Given the description of an element on the screen output the (x, y) to click on. 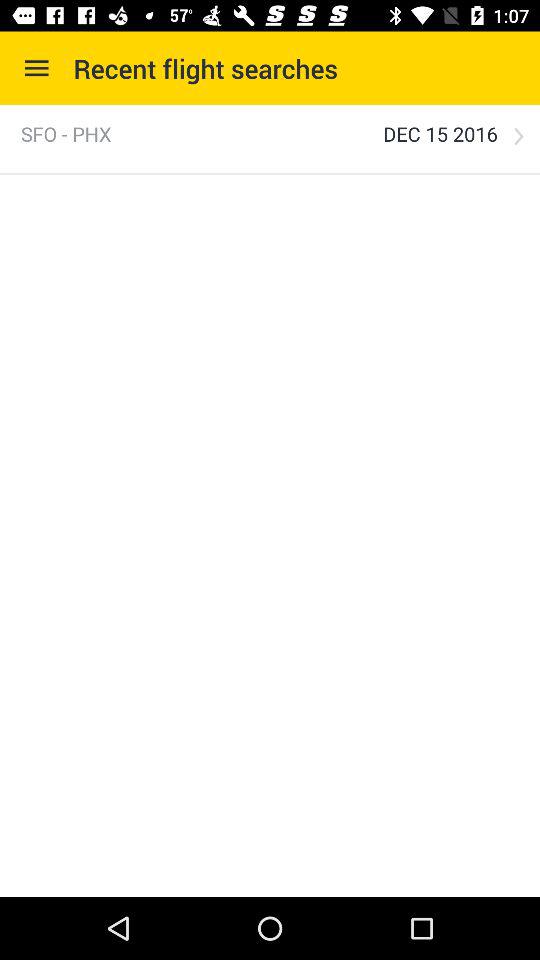
jump to dec 15 2016 (440, 133)
